Given the description of an element on the screen output the (x, y) to click on. 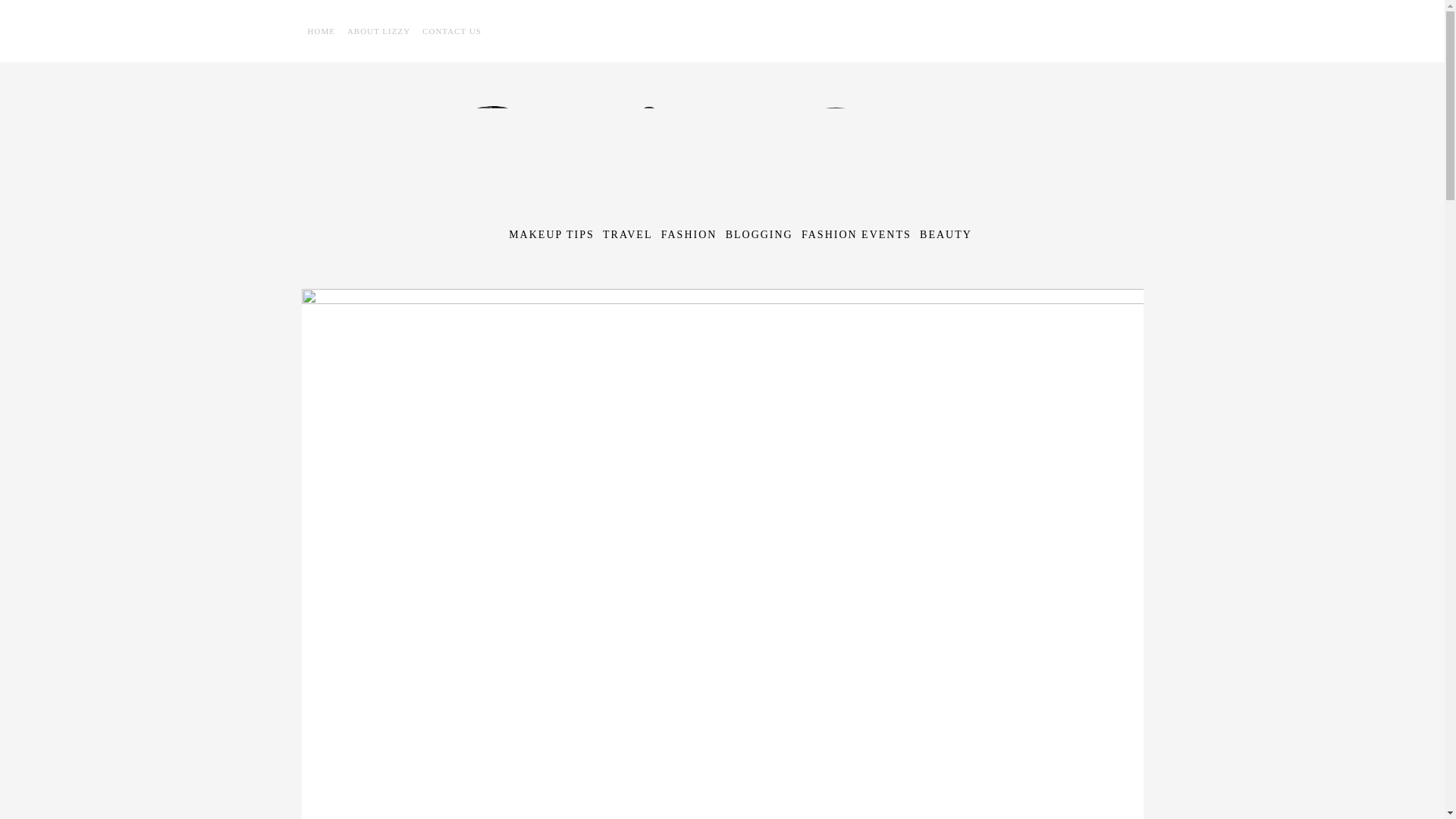
BLOGGING (759, 234)
About Lizzy (378, 30)
ABOUT LIZZY (378, 30)
FASHION EVENTS (856, 234)
MAKEUP TIPS (551, 234)
BEAUTY (946, 234)
CONTACT US (451, 30)
TRAVEL (627, 234)
Contact Us (451, 30)
FASHION (689, 234)
